Given the description of an element on the screen output the (x, y) to click on. 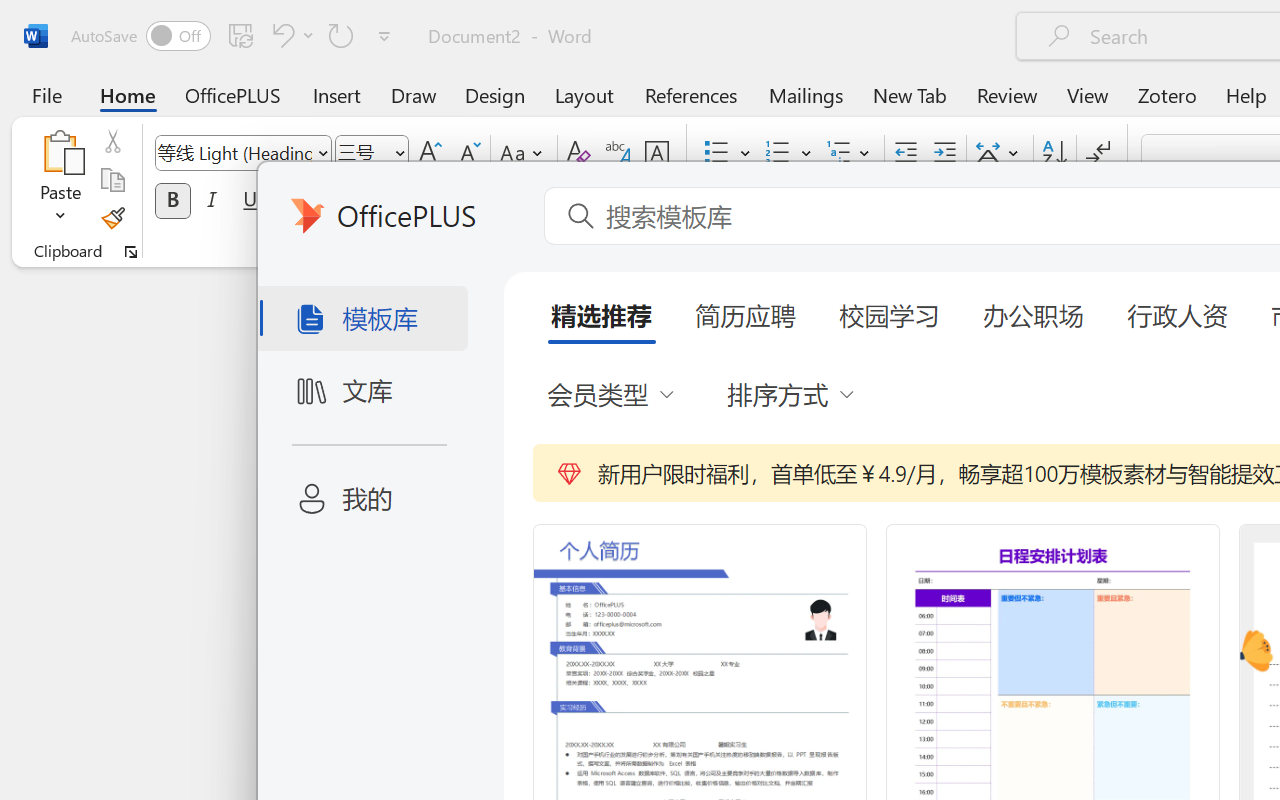
Home (127, 94)
Mailings (806, 94)
Review (1007, 94)
Paste (60, 179)
More Options (60, 208)
Draw (413, 94)
Paste (60, 151)
Customize Quick Access Toolbar (384, 35)
References (690, 94)
Format Painter (112, 218)
